Given the description of an element on the screen output the (x, y) to click on. 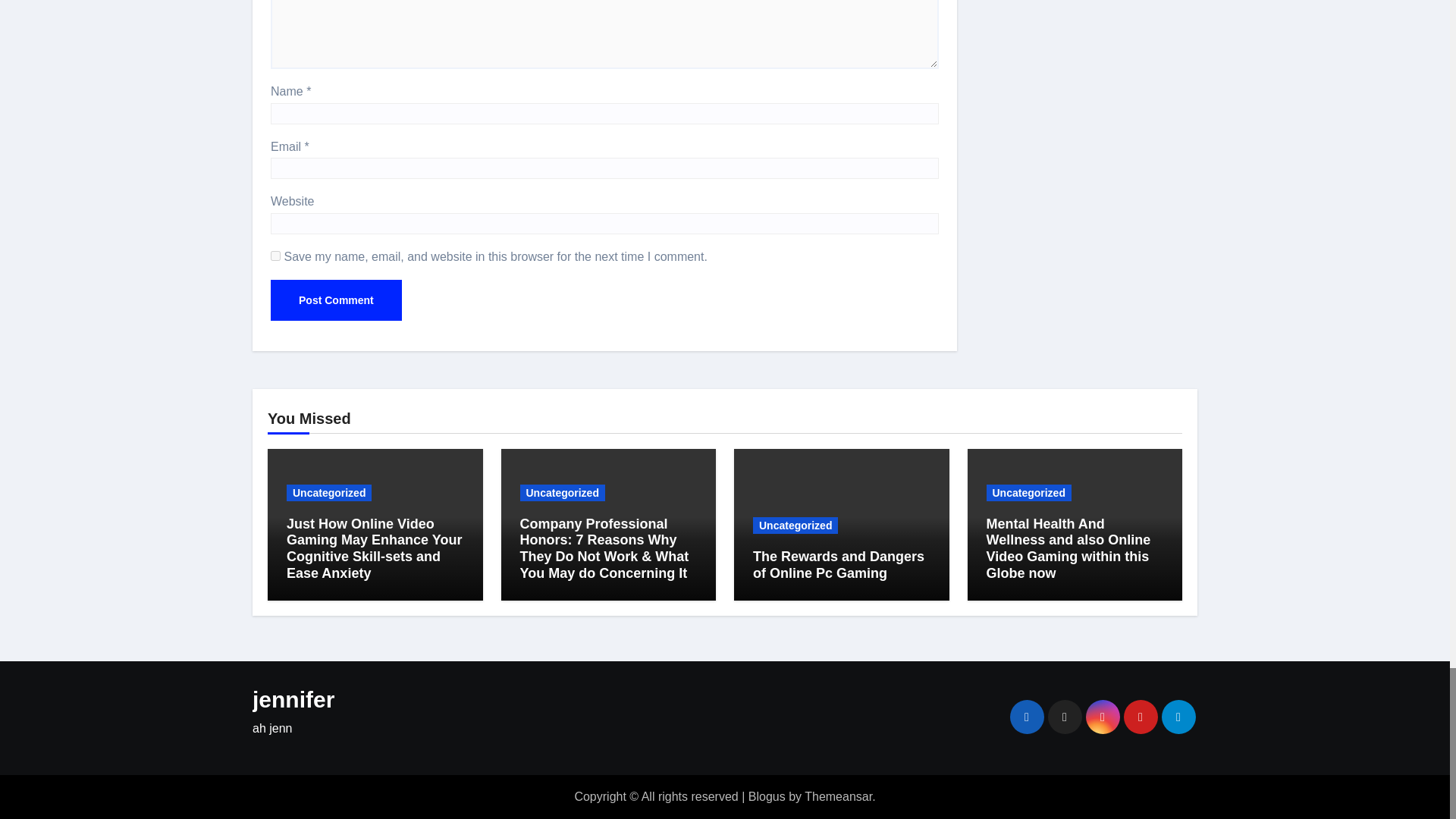
Permalink to: The Rewards and Dangers of Online Pc Gaming (838, 564)
yes (275, 255)
Post Comment (335, 300)
